Given the description of an element on the screen output the (x, y) to click on. 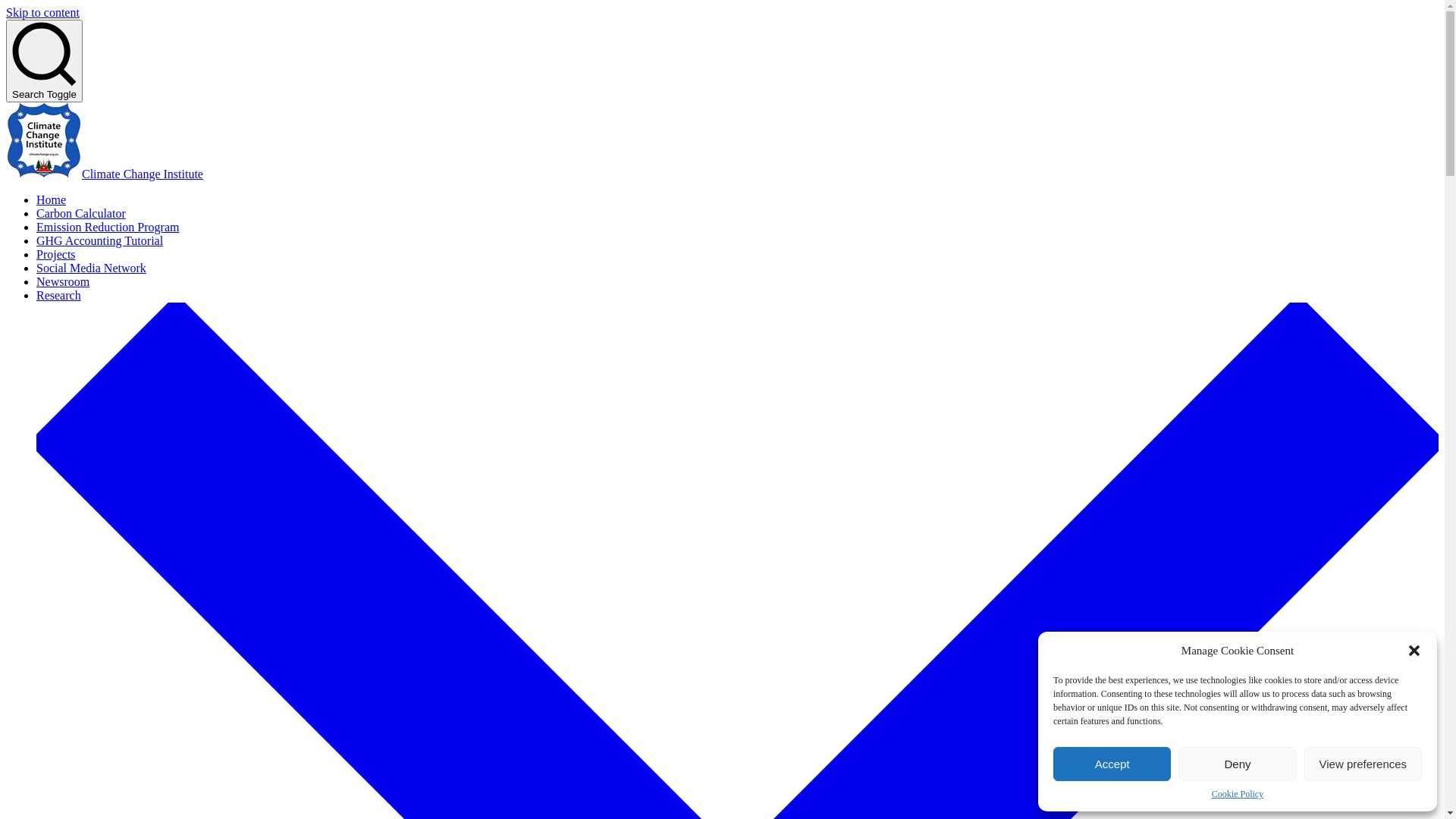
Deny Element type: text (1236, 763)
GHG Accounting Tutorial Element type: text (99, 240)
Home Element type: text (50, 199)
Social Media Network Element type: text (91, 267)
View preferences Element type: text (1362, 763)
Skip to content Element type: text (42, 12)
Climate Change Institute Element type: text (142, 173)
Newsroom Element type: text (62, 281)
Search Toggle Element type: text (44, 60)
Projects Element type: text (55, 253)
Cookie Policy Element type: text (1237, 794)
Carbon Calculator Element type: text (80, 213)
Accept Element type: text (1111, 763)
Emission Reduction Program Element type: text (107, 226)
